Given the description of an element on the screen output the (x, y) to click on. 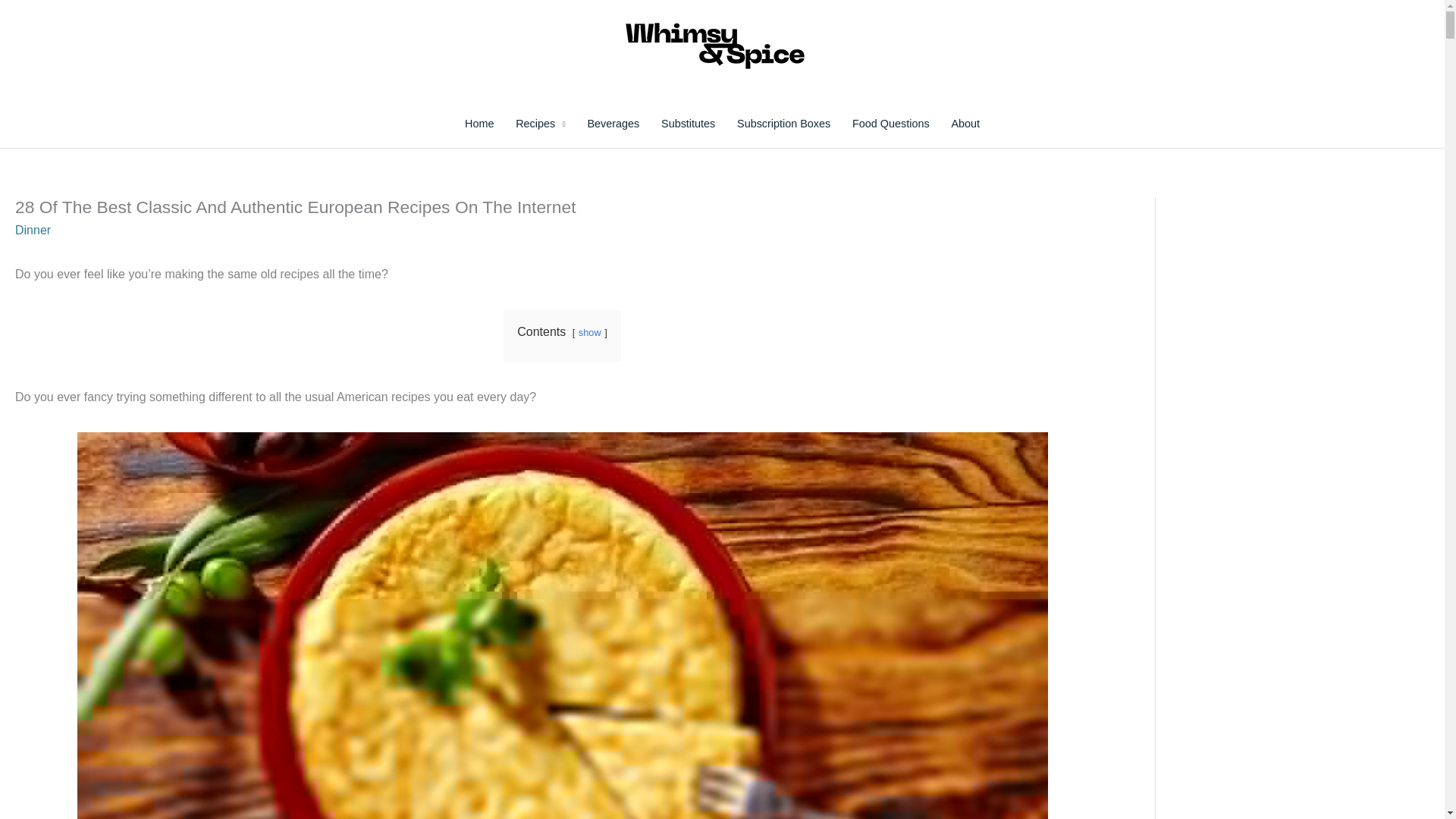
Food Questions (890, 124)
Subscription Boxes (783, 124)
About (965, 124)
Substitutes (688, 124)
Recipes (540, 124)
show (589, 332)
Beverages (613, 124)
Dinner (32, 229)
Home (479, 124)
